Given the description of an element on the screen output the (x, y) to click on. 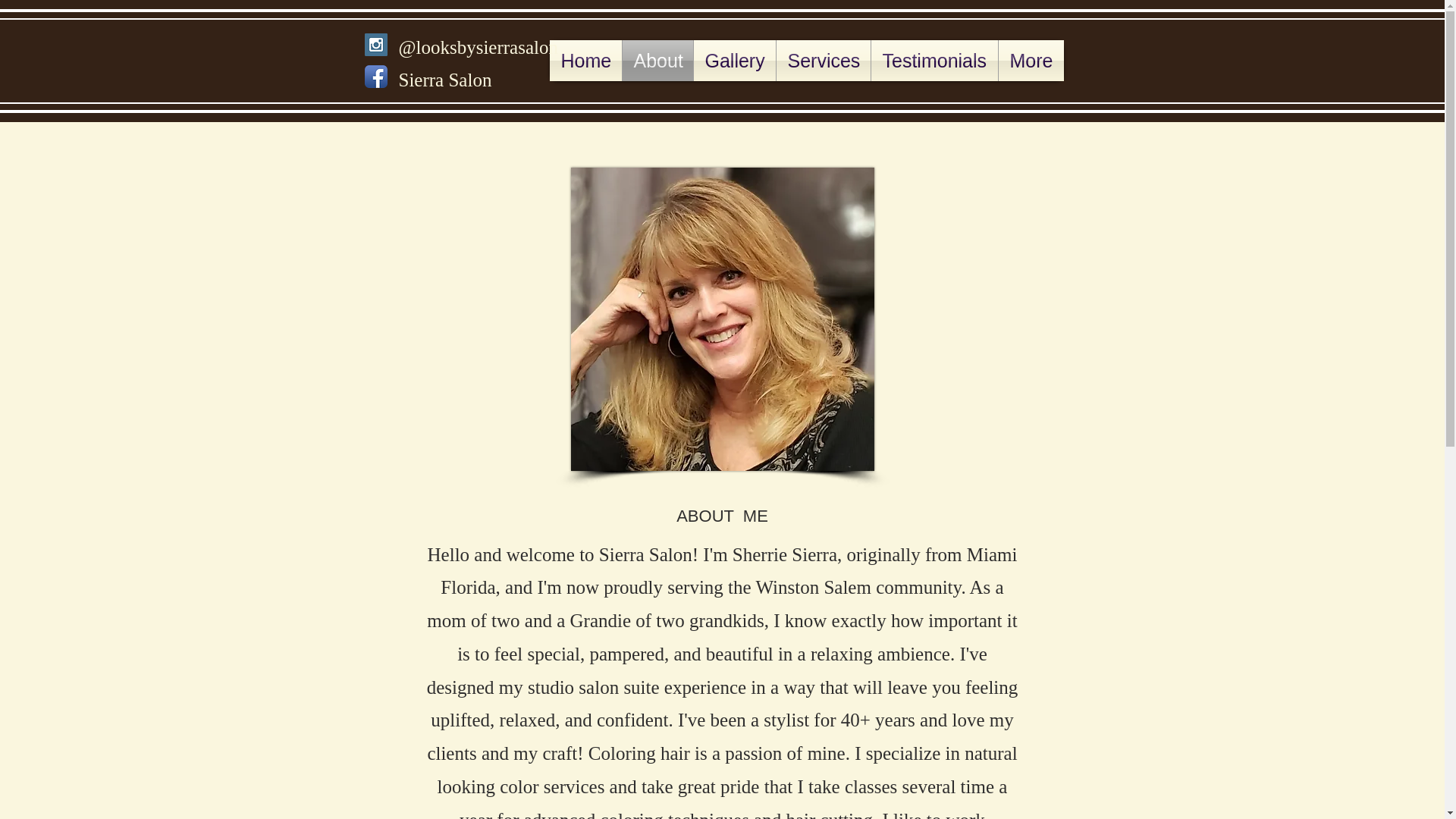
About (657, 60)
Testimonials (933, 60)
Gallery (733, 60)
Services (823, 60)
Home (584, 60)
